Given the description of an element on the screen output the (x, y) to click on. 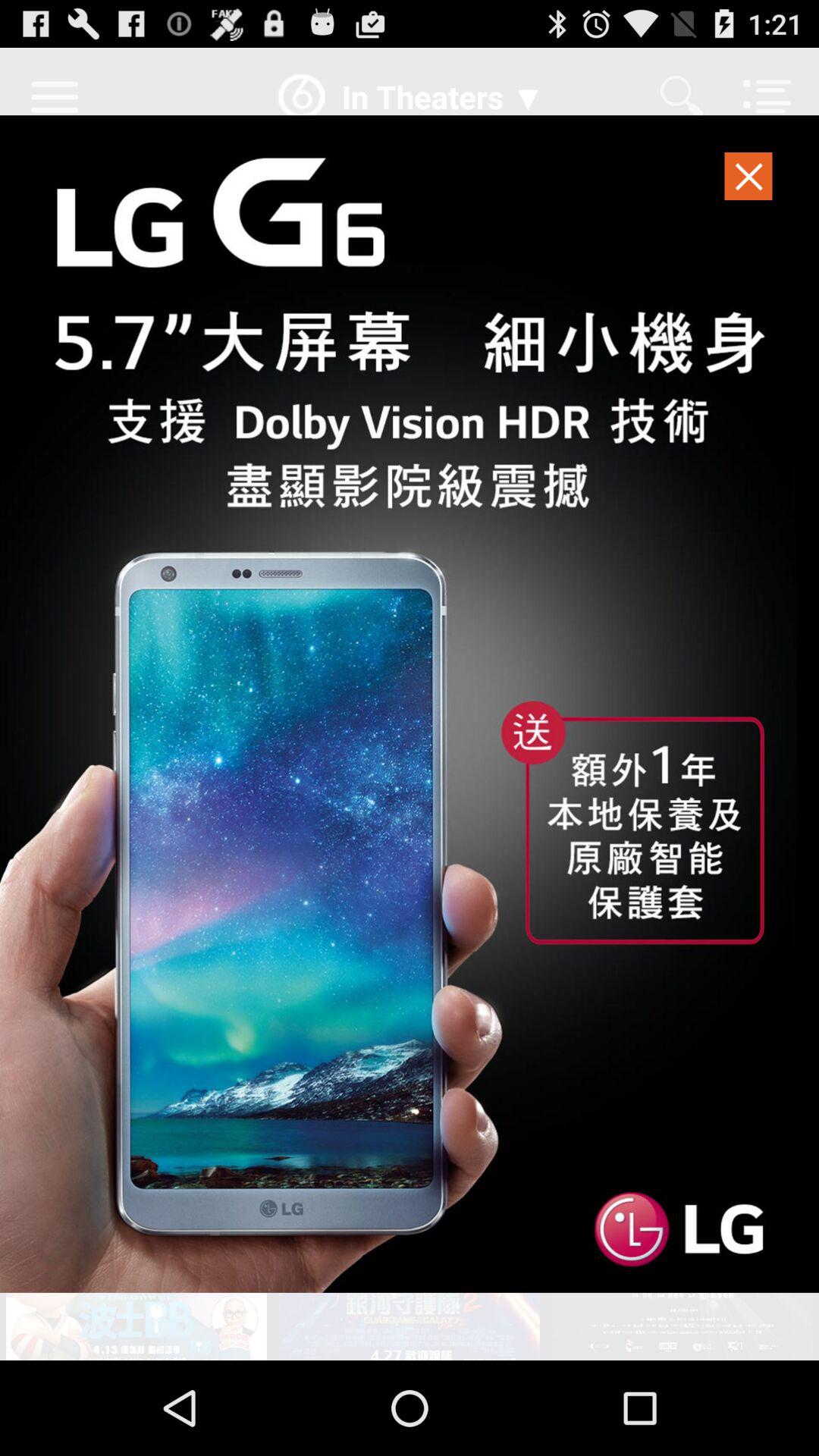
advertisement (409, 703)
